Given the description of an element on the screen output the (x, y) to click on. 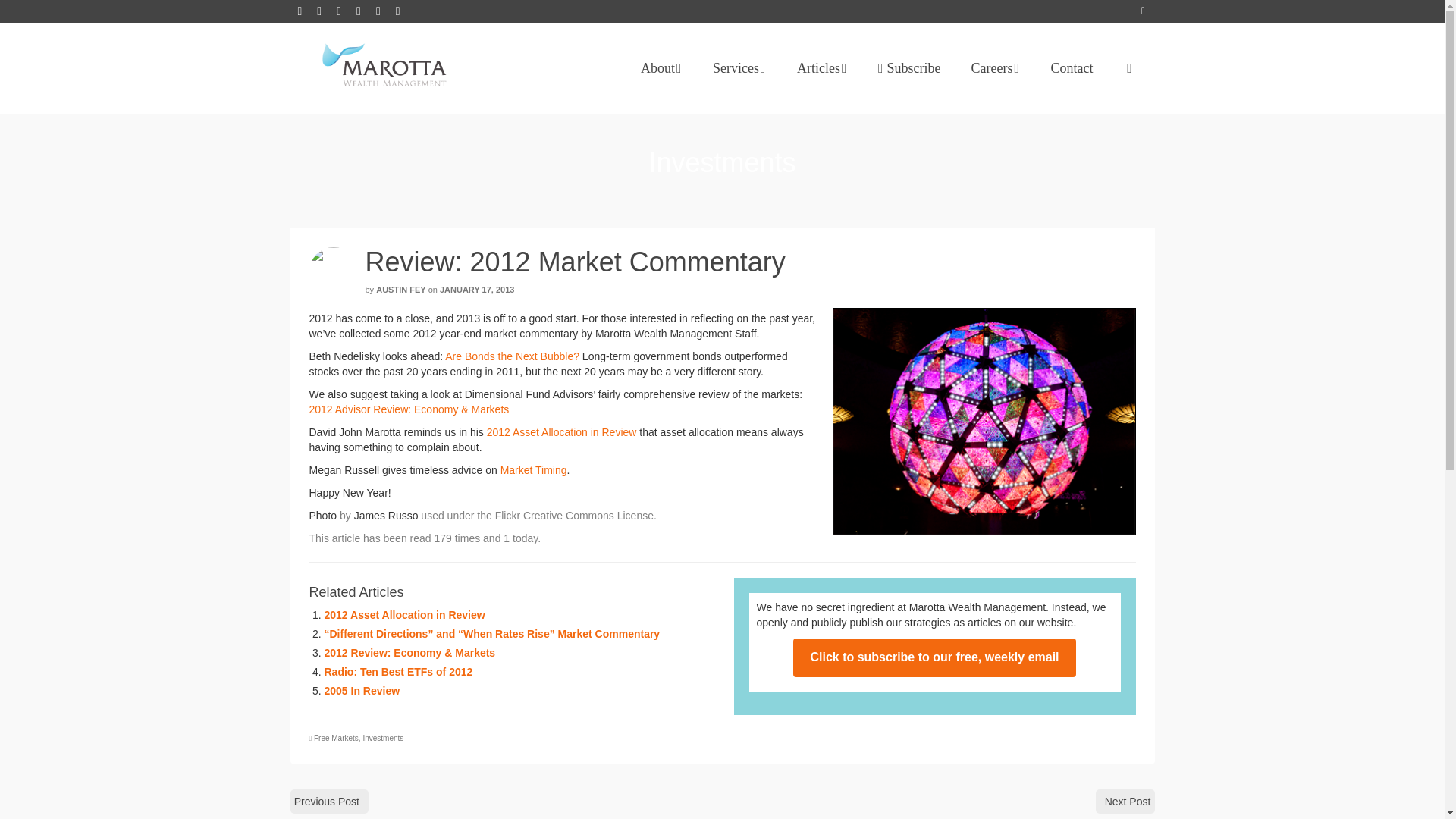
Services (739, 67)
Subscribe (909, 67)
2005 In Review (362, 690)
Posts by Austin Fey (400, 289)
Articles (822, 67)
2012 Asset Allocation in Review (404, 614)
Radio: Ten Best ETFs of 2012 (398, 671)
Review: 2012 Market Commentary (983, 421)
